Given the description of an element on the screen output the (x, y) to click on. 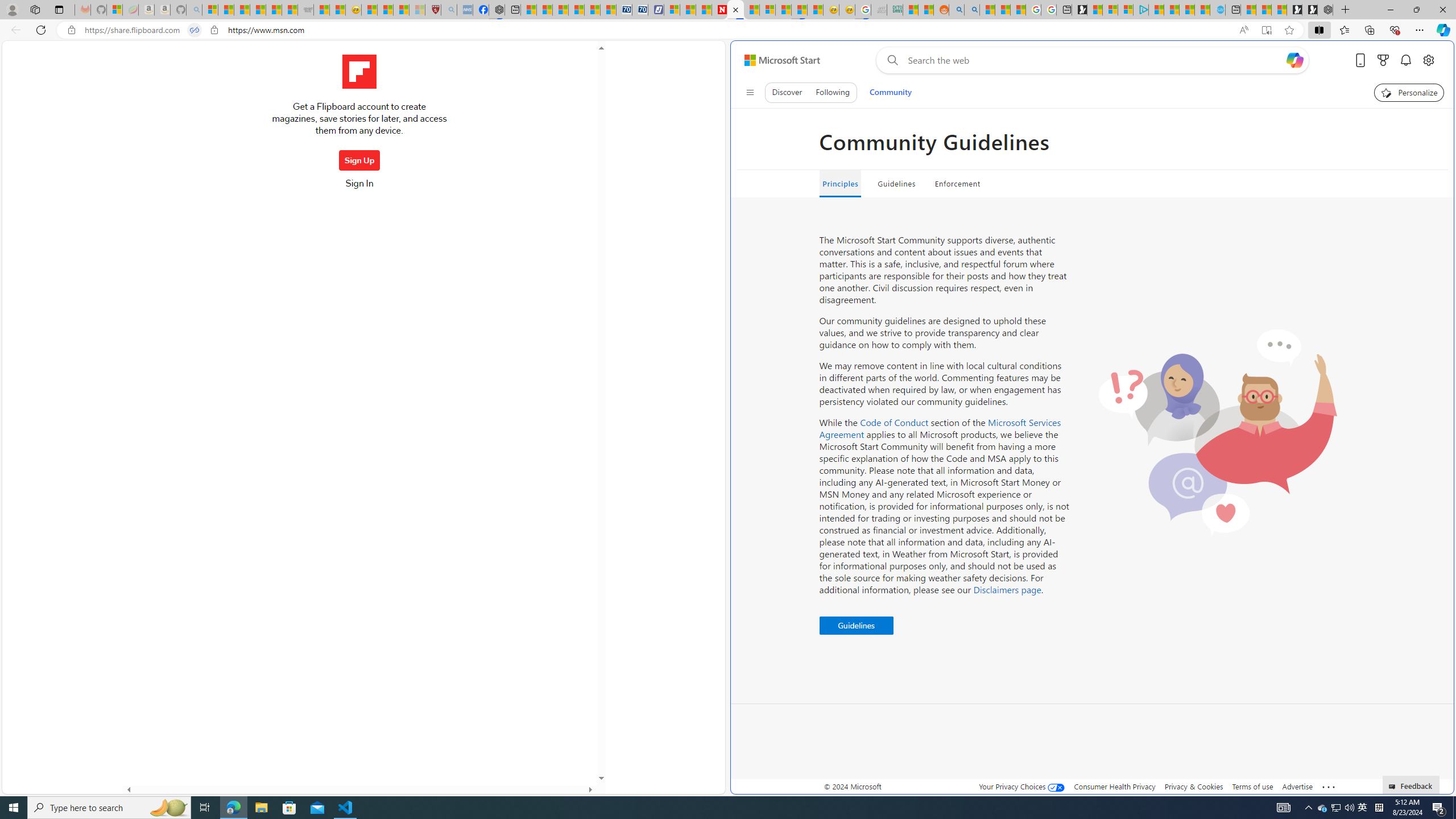
Your Privacy Choices (1021, 785)
Open settings (1427, 60)
Home | Sky Blue Bikes - Sky Blue Bikes (1217, 9)
Terms of use (1252, 785)
Class: feedback_link_icon-DS-EntryPoint1-1 (1393, 786)
Microsoft Services Agreement (939, 428)
Science - MSN (400, 9)
Class: control icon-only (749, 92)
